Given the description of an element on the screen output the (x, y) to click on. 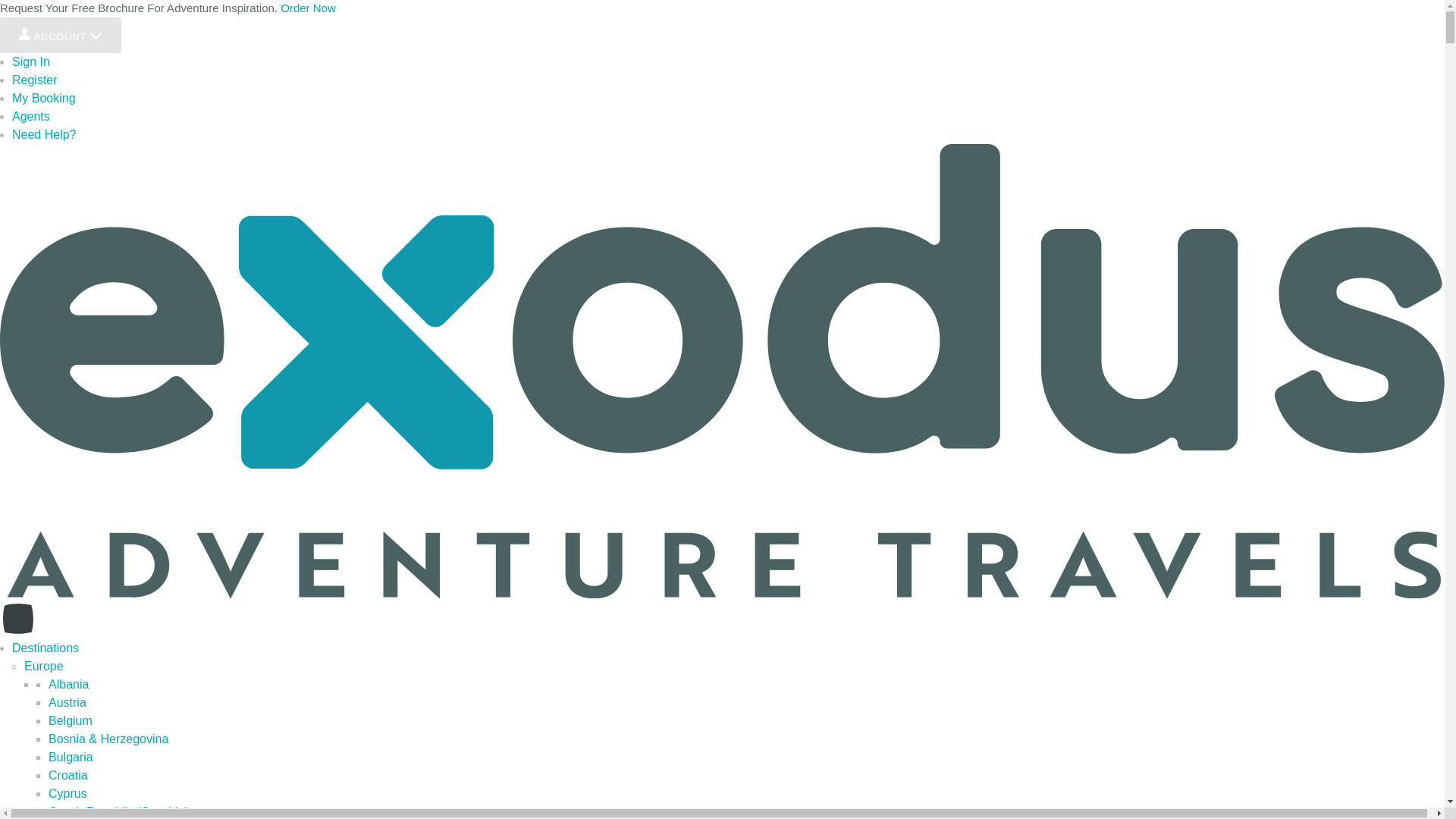
Destinations (44, 647)
Agents (30, 115)
Sign In (30, 60)
Register (34, 78)
Europe (44, 666)
Belgium (70, 720)
Croatia (67, 775)
Need Help? (44, 133)
Order Now (308, 7)
Need Help? (44, 133)
Austria (66, 702)
Cyprus (67, 793)
Bulgaria (70, 757)
Sign In (30, 60)
ACCOUNT (60, 34)
